Given the description of an element on the screen output the (x, y) to click on. 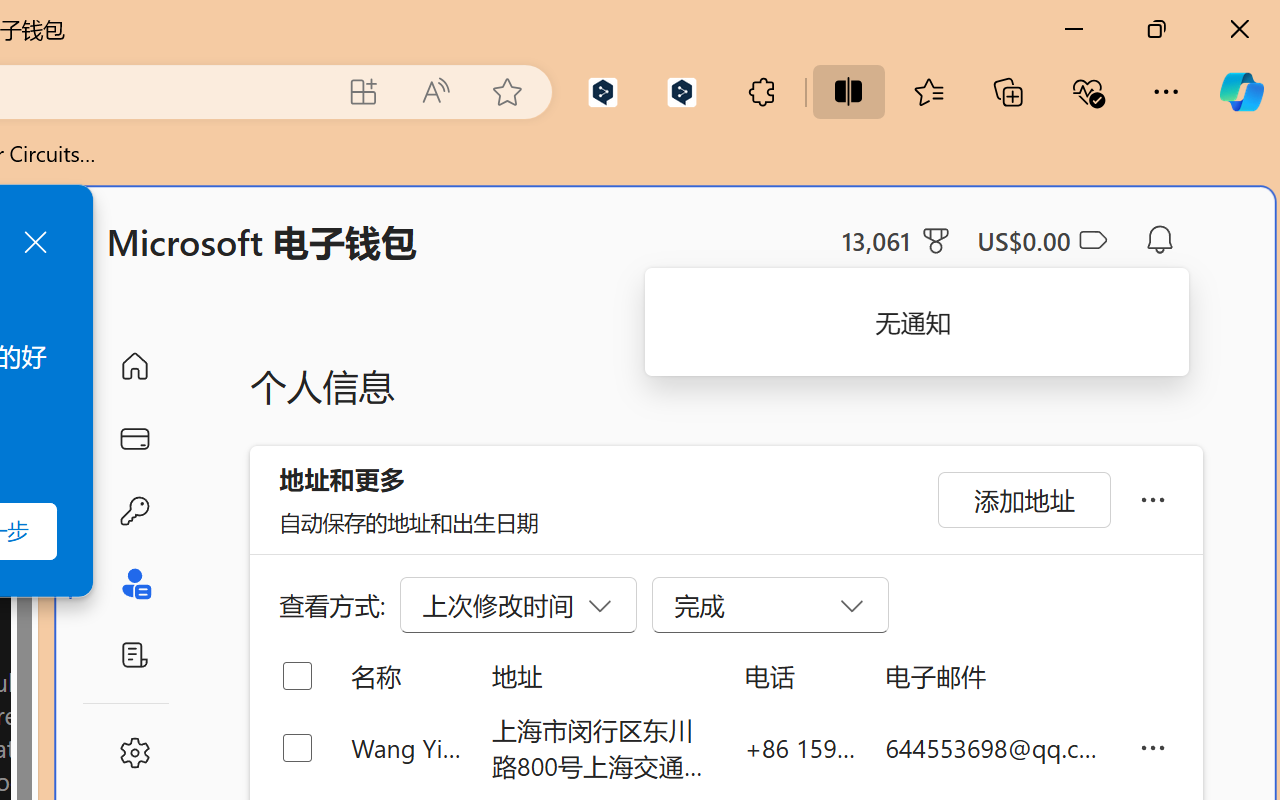
Wang Yian (406, 747)
Microsoft Cashback - US$0.00 (1041, 240)
Copilot (Ctrl+Shift+.) (1241, 91)
+86 159 0032 4640 (799, 747)
Class: ___1lmltc5 f1agt3bx f12qytpq (1092, 241)
